Given the description of an element on the screen output the (x, y) to click on. 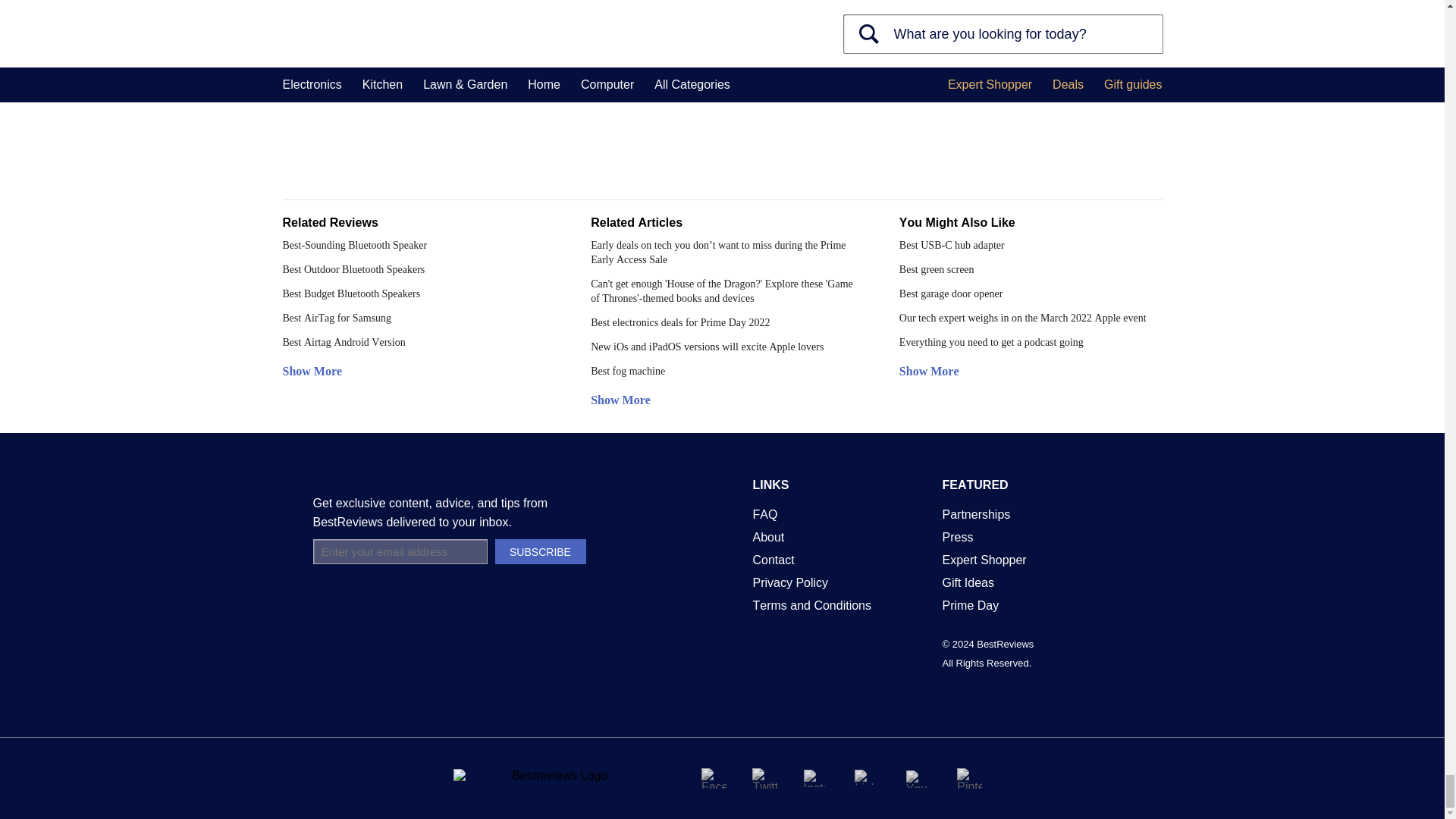
Frequently asked questions (764, 513)
Subscribe email (399, 551)
Contact Us (772, 559)
